Given the description of an element on the screen output the (x, y) to click on. 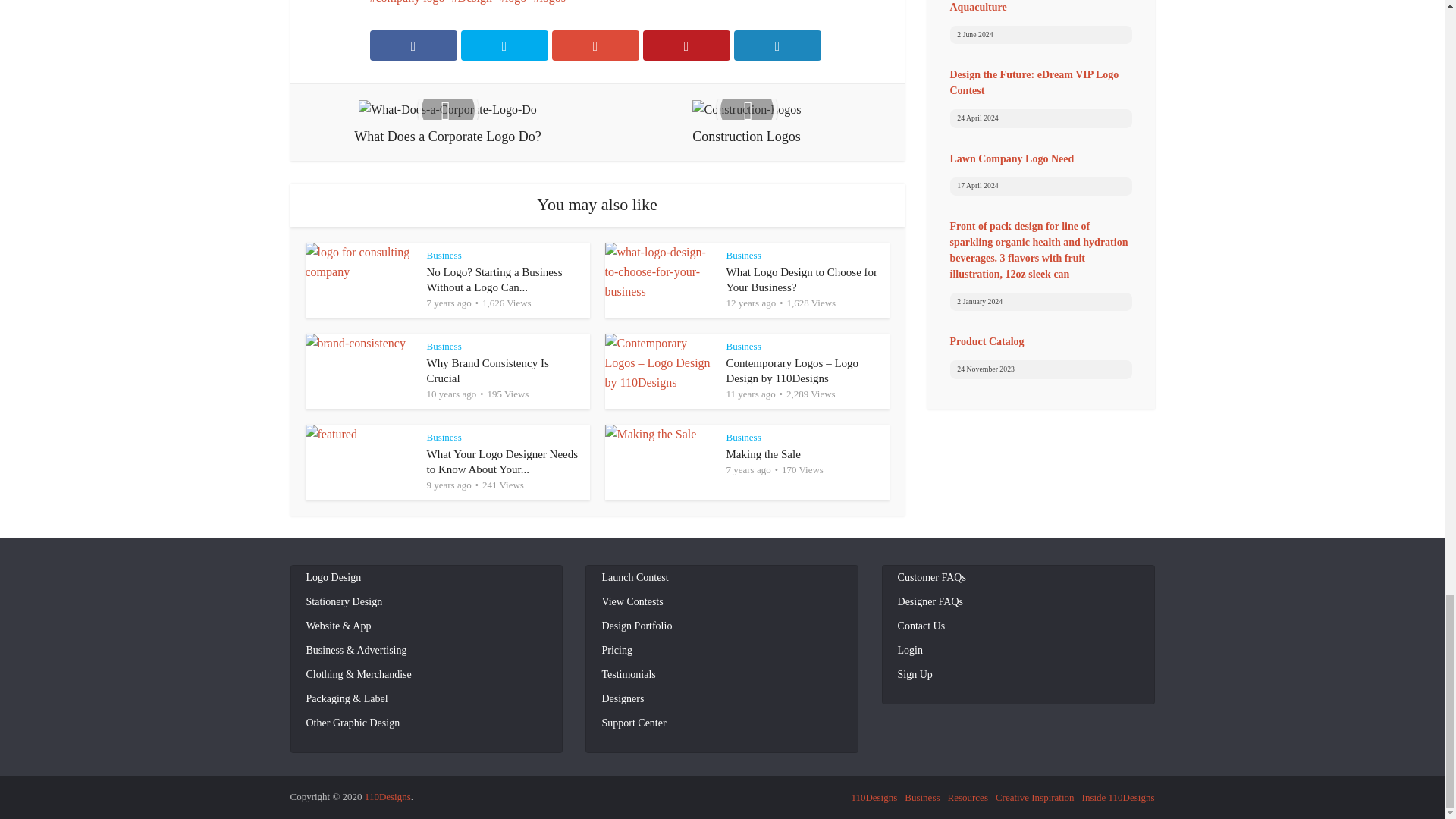
What Logo Design to Choose for Your Business? (801, 279)
What Does a Corporate Logo Do? (447, 122)
company logo (407, 2)
logos (549, 2)
Construction Logos (746, 122)
logo (512, 2)
Why Brand Consistency Is Crucial (487, 370)
Design (471, 2)
